Given the description of an element on the screen output the (x, y) to click on. 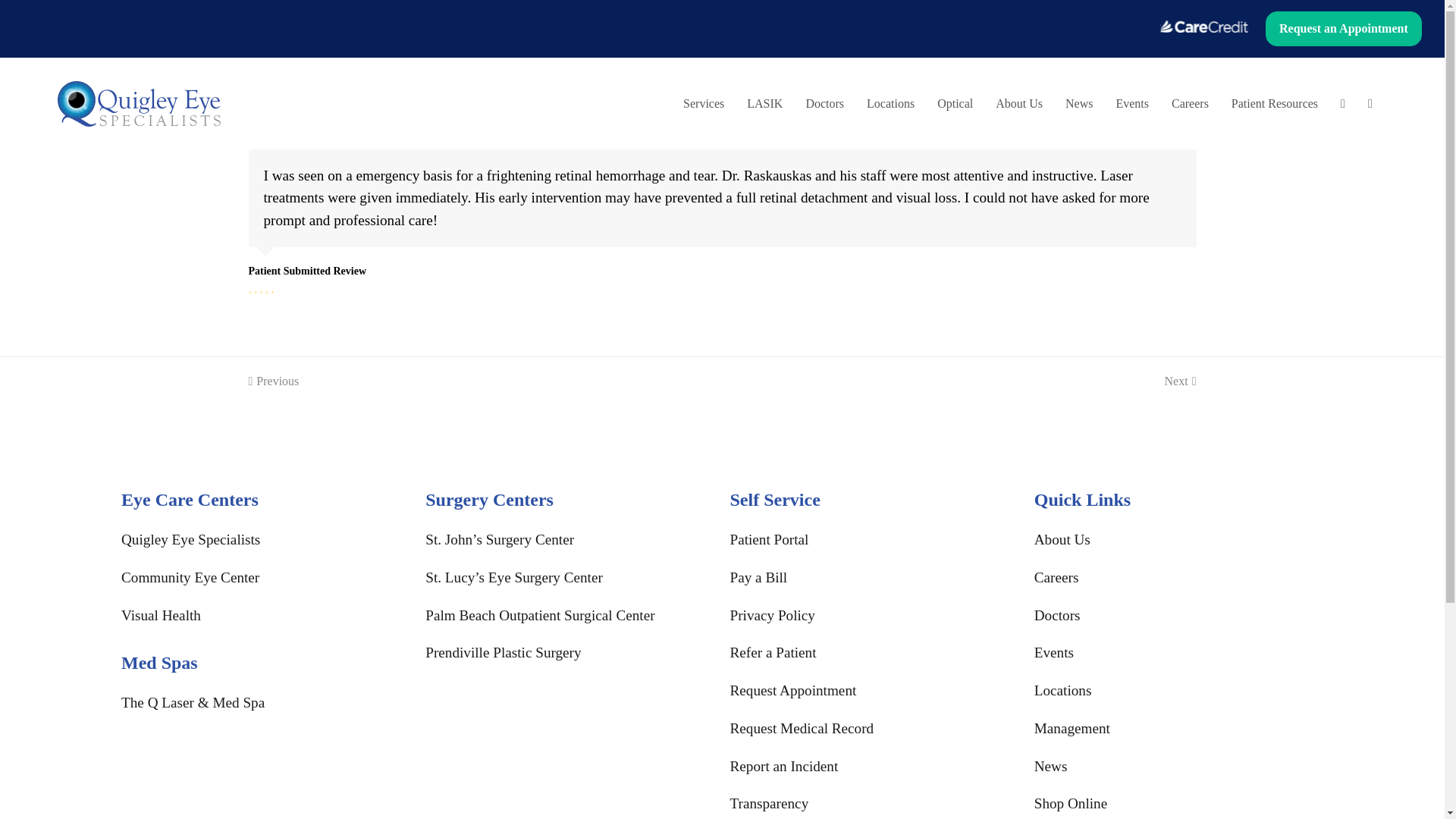
LASIK (764, 103)
Services (703, 103)
Request an Appointment (1343, 29)
Locations (891, 103)
Request an Appointment (1343, 28)
Optical (955, 103)
Doctors (824, 103)
